Given the description of an element on the screen output the (x, y) to click on. 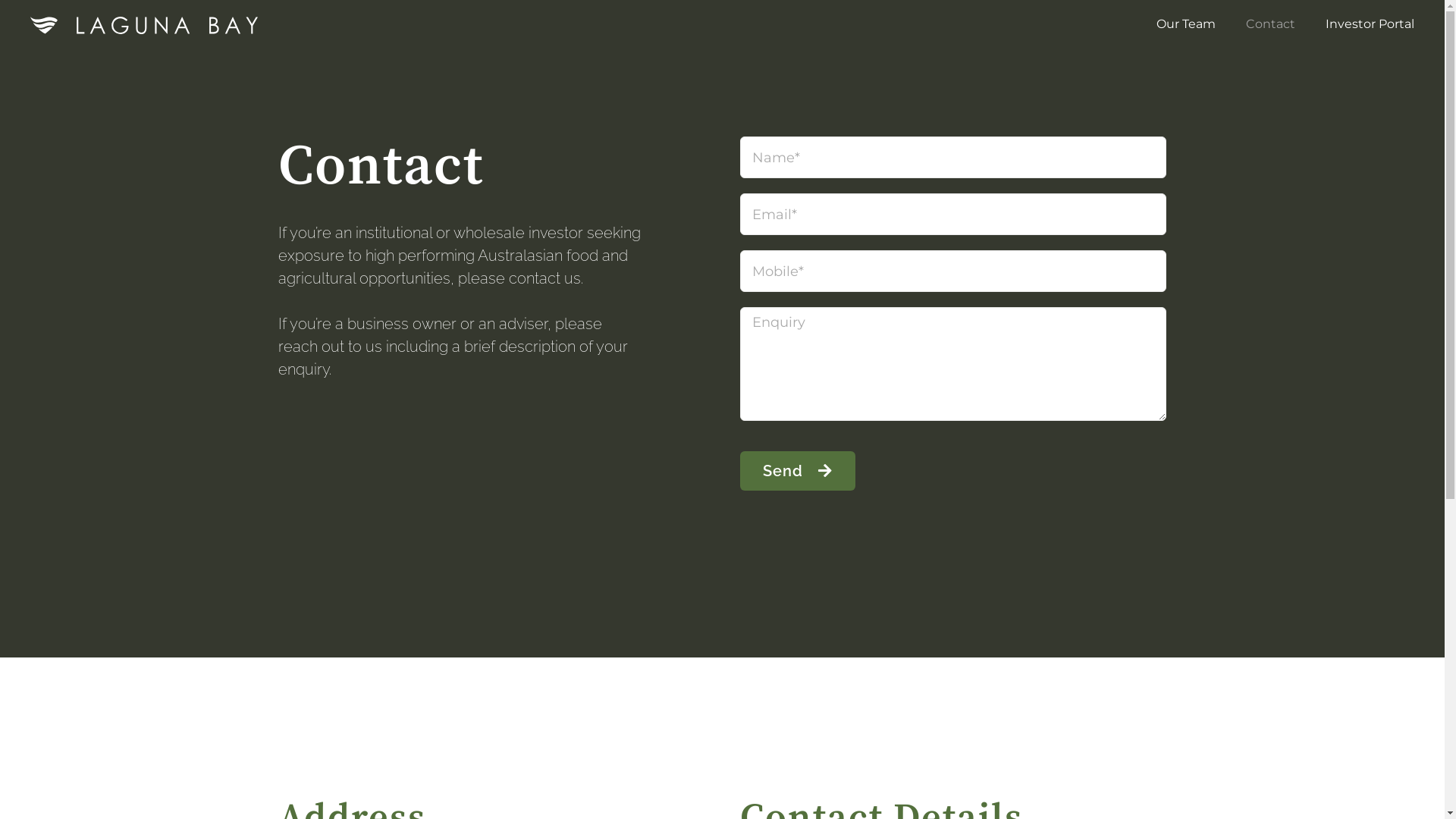
Contact Element type: text (1270, 24)
Send Element type: text (797, 470)
Our Team Element type: text (1185, 24)
Investor Portal Element type: text (1369, 24)
